Given the description of an element on the screen output the (x, y) to click on. 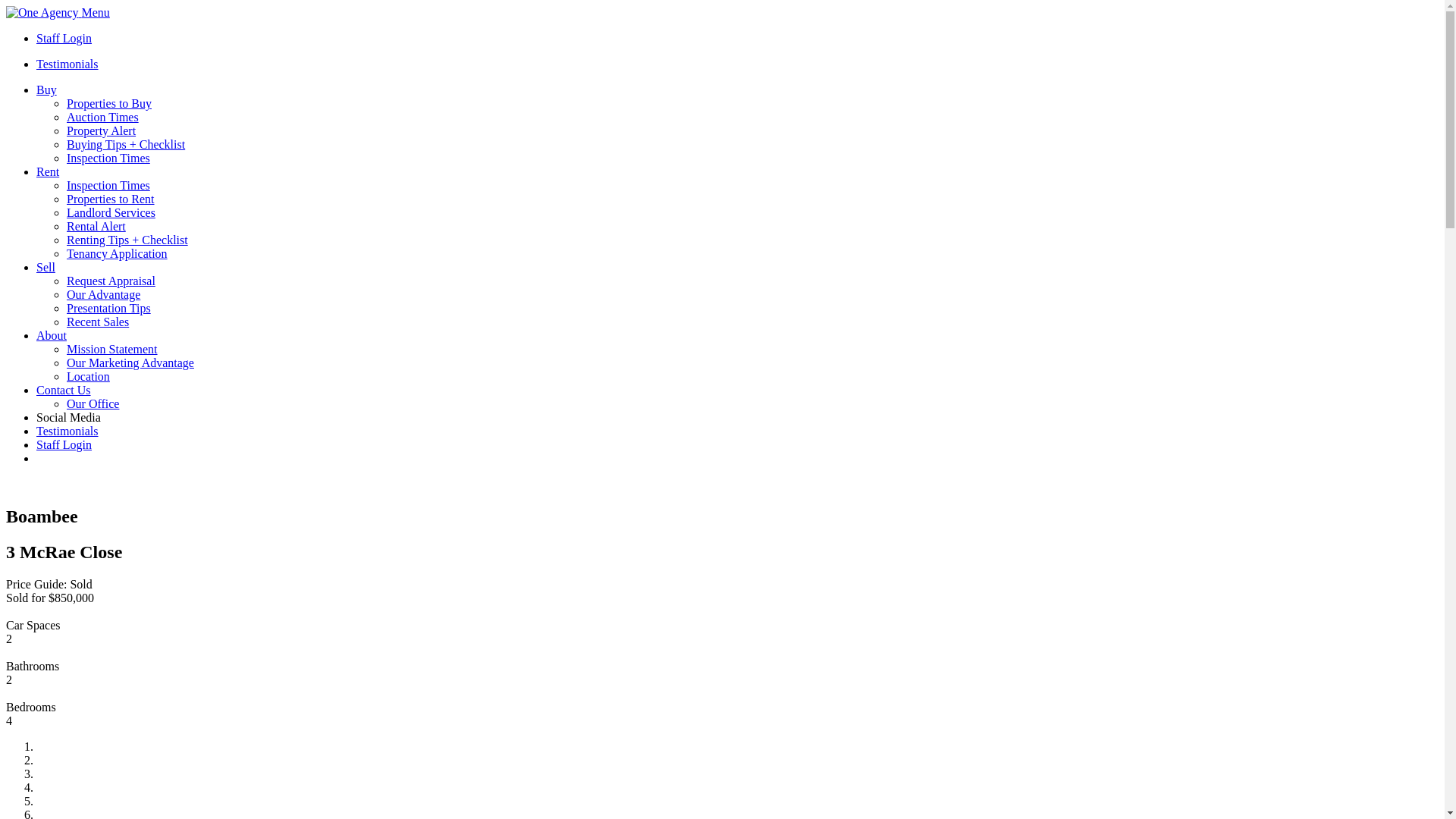
Recent Sales Element type: text (97, 321)
Rent Element type: text (47, 171)
Properties to Rent Element type: text (110, 198)
About Element type: text (51, 335)
Buying Tips + Checklist Element type: text (125, 144)
Contact Us Element type: text (63, 389)
Sell Element type: text (45, 266)
Location Element type: text (87, 376)
Tenancy Application Element type: text (116, 253)
Buy Element type: text (46, 89)
Auction Times Element type: text (102, 116)
Landlord Services Element type: text (110, 212)
Testimonials Element type: text (67, 63)
Property Alert Element type: text (100, 130)
Inspection Times Element type: text (108, 157)
Rental Alert Element type: text (95, 225)
Staff Login Element type: text (63, 37)
Our Office Element type: text (92, 403)
Request Appraisal Element type: text (110, 280)
Inspection Times Element type: text (108, 184)
Our Advantage Element type: text (103, 294)
Menu Element type: text (95, 12)
Properties to Buy Element type: text (108, 103)
Our Marketing Advantage Element type: text (130, 362)
Presentation Tips Element type: text (108, 307)
Staff Login Element type: text (63, 444)
Mission Statement Element type: text (111, 348)
Renting Tips + Checklist Element type: text (127, 239)
Testimonials Element type: text (67, 430)
